Given the description of an element on the screen output the (x, y) to click on. 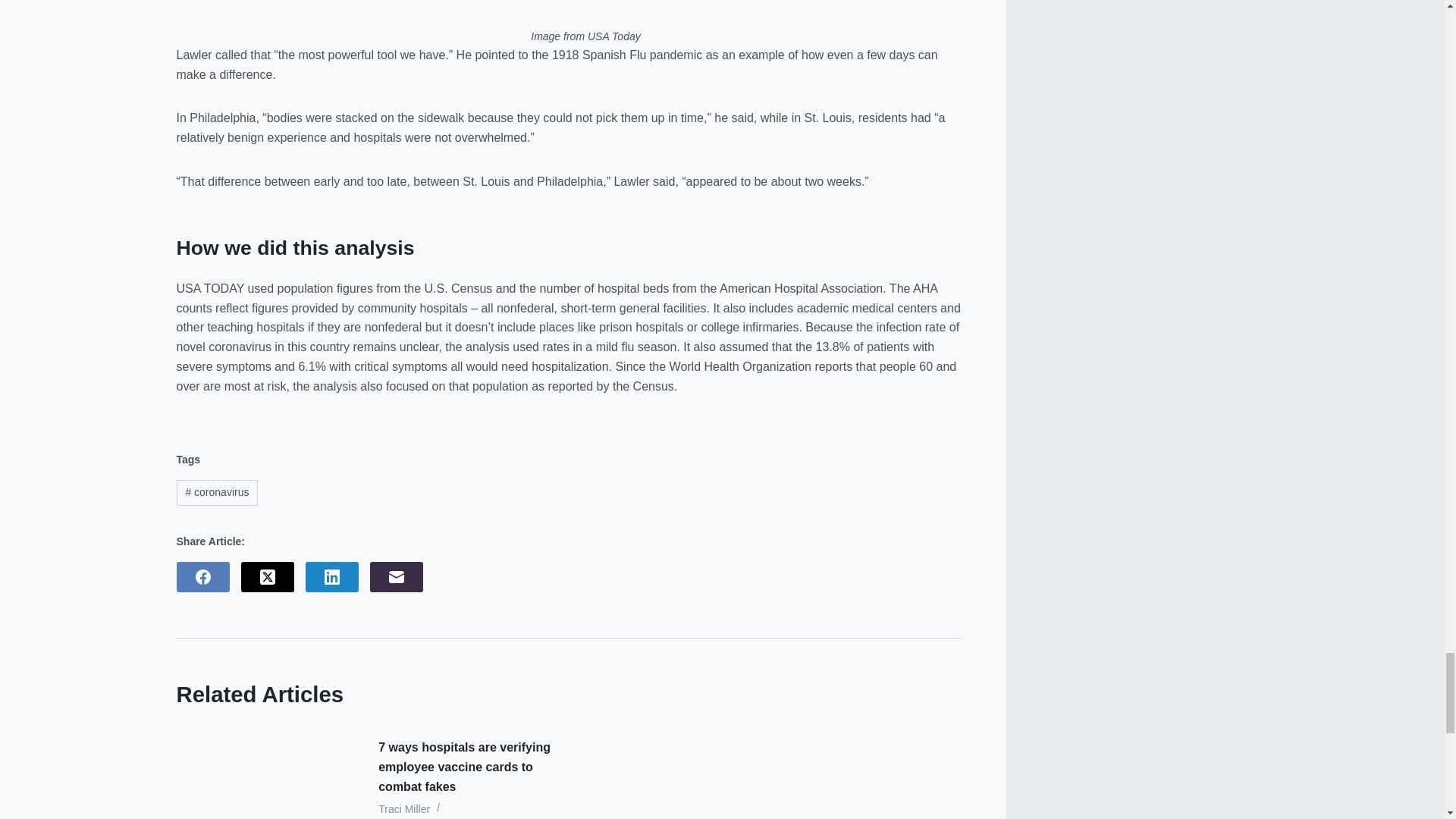
Posts by Traci Miller (403, 808)
